Given the description of an element on the screen output the (x, y) to click on. 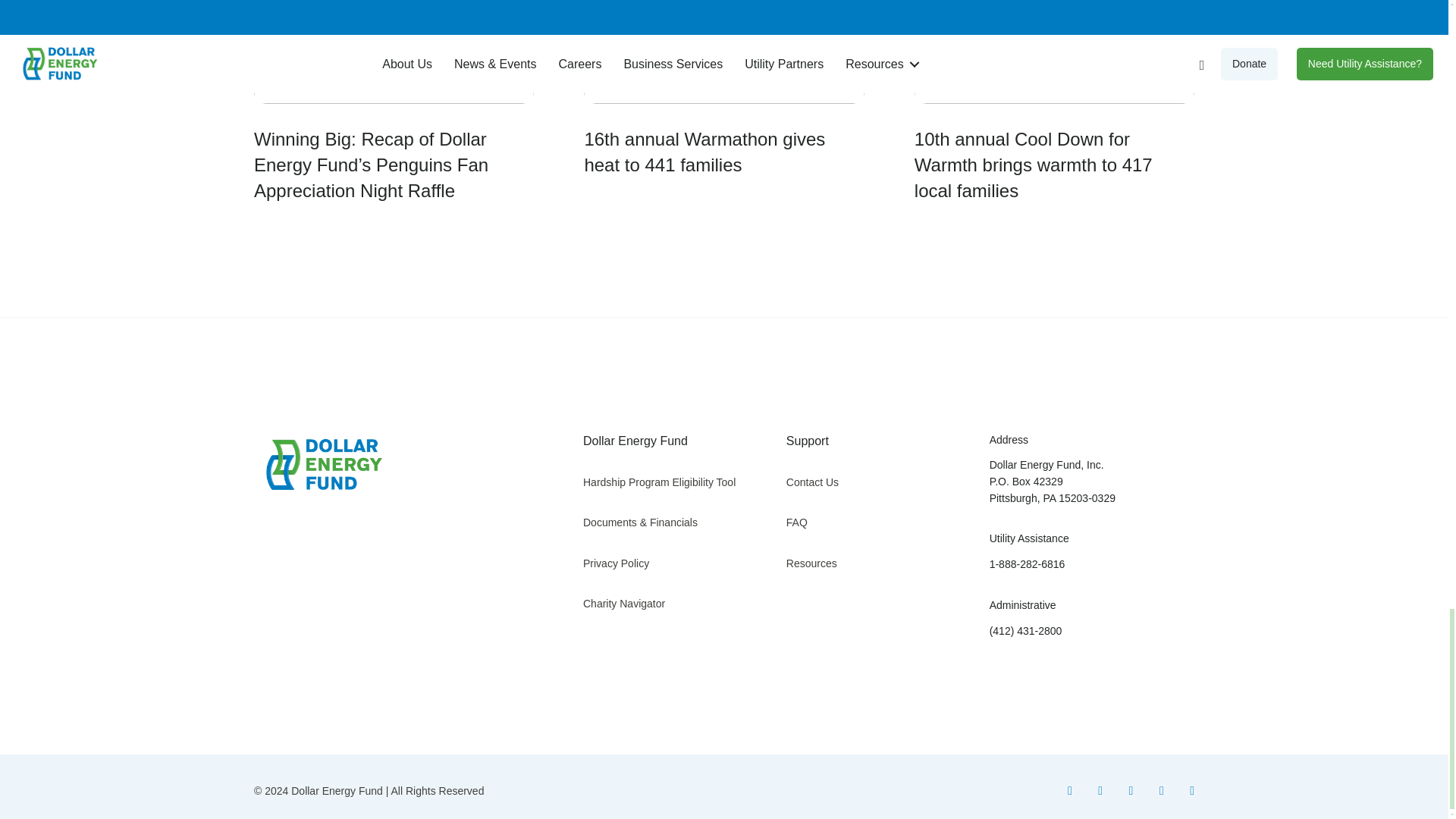
Dollar Energy Fund Logo (317, 464)
16th annual Warmathon gives heat to 441 families (723, 92)
